Given the description of an element on the screen output the (x, y) to click on. 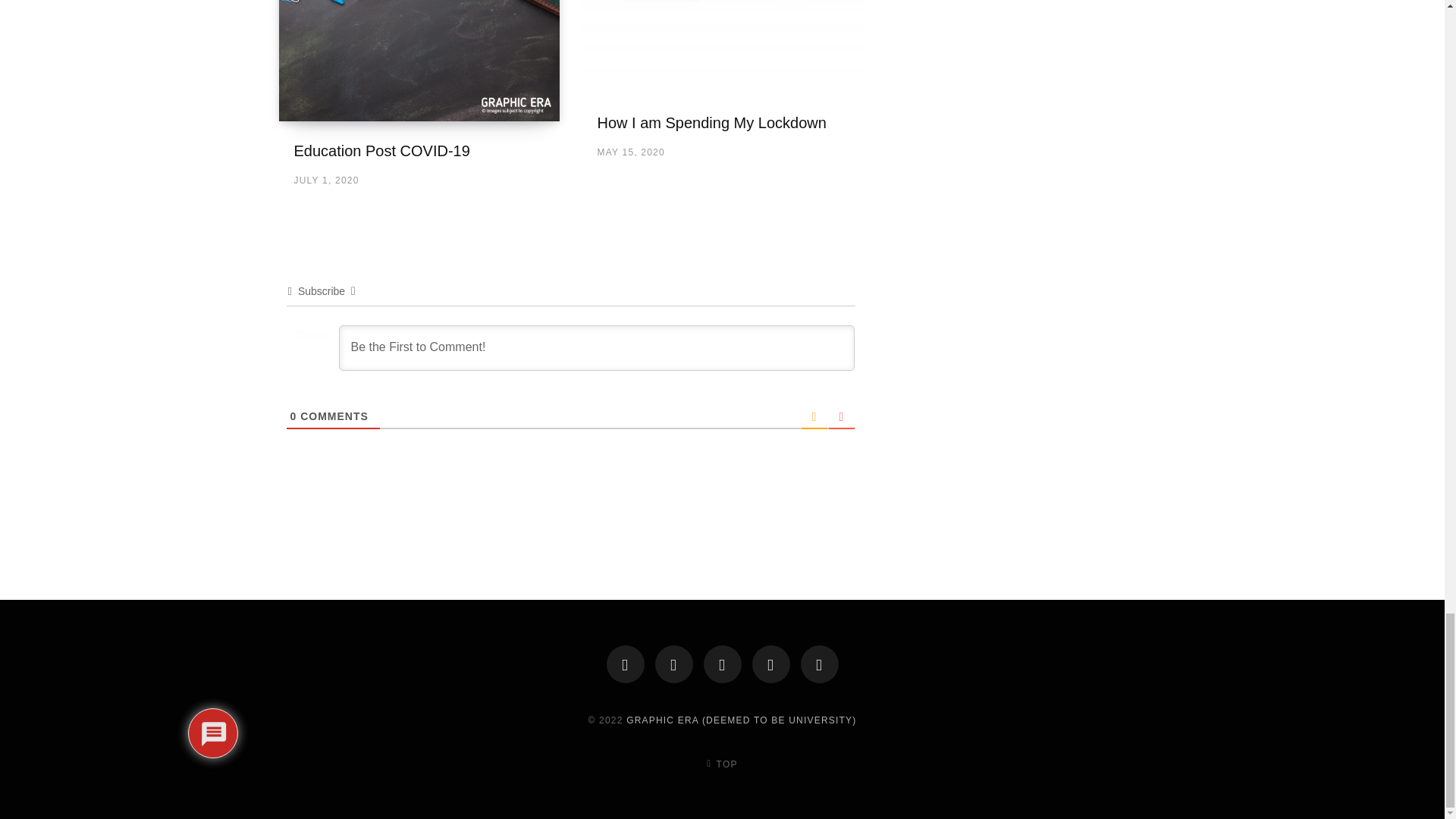
Education Post COVID-19 (382, 150)
How I am Spending My Lockdown (711, 122)
